Given the description of an element on the screen output the (x, y) to click on. 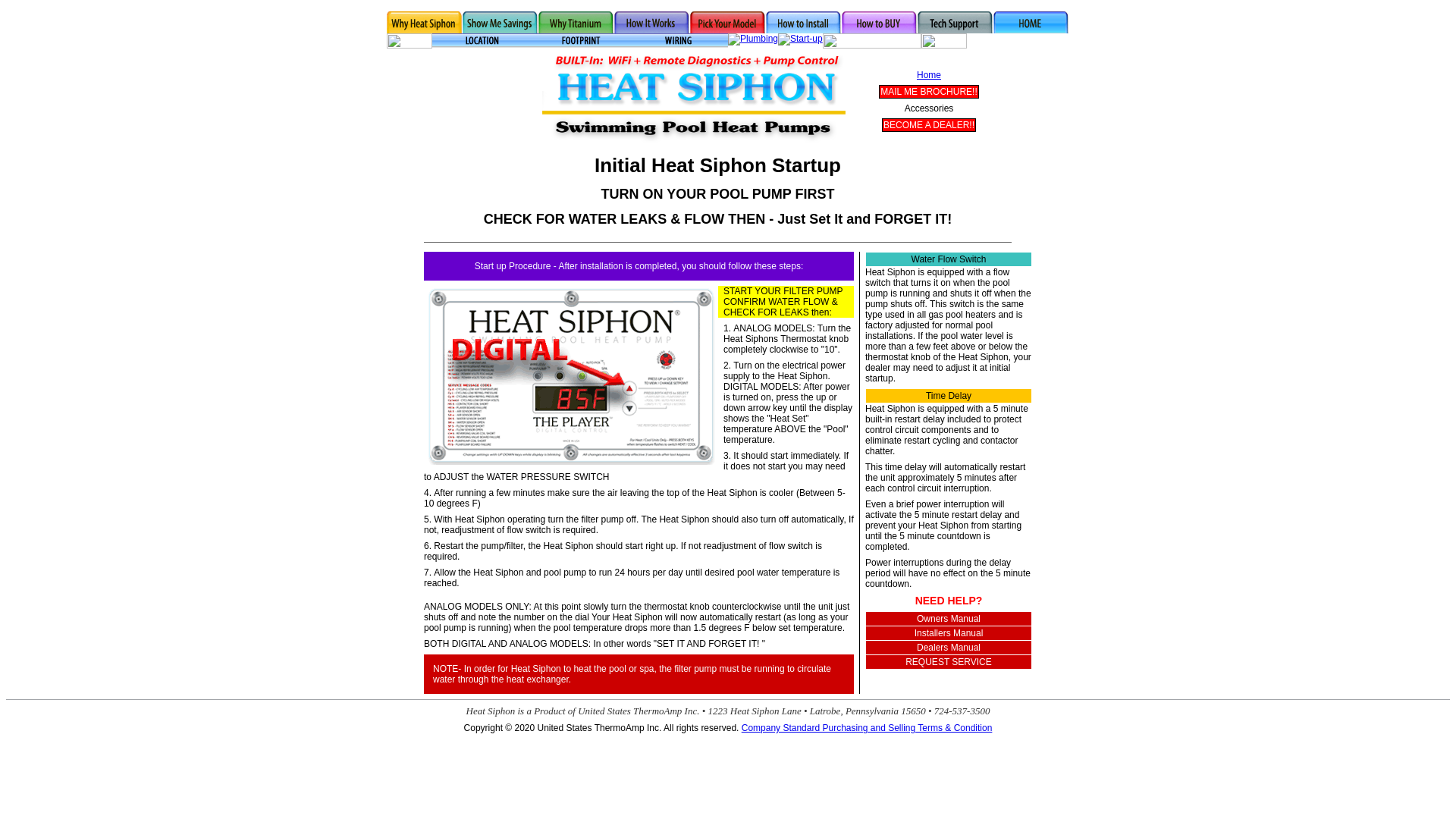
BECOME A DEALER!! (928, 124)
Owners Manual (948, 618)
Installers Manual (949, 633)
ADJUST the WATER PRESSURE SWITCH (521, 476)
Dealers Manual (948, 647)
REQUEST SERVICE (948, 661)
MAIL ME BROCHURE!! (928, 91)
Click to chat (489, 95)
Home (928, 74)
